Given the description of an element on the screen output the (x, y) to click on. 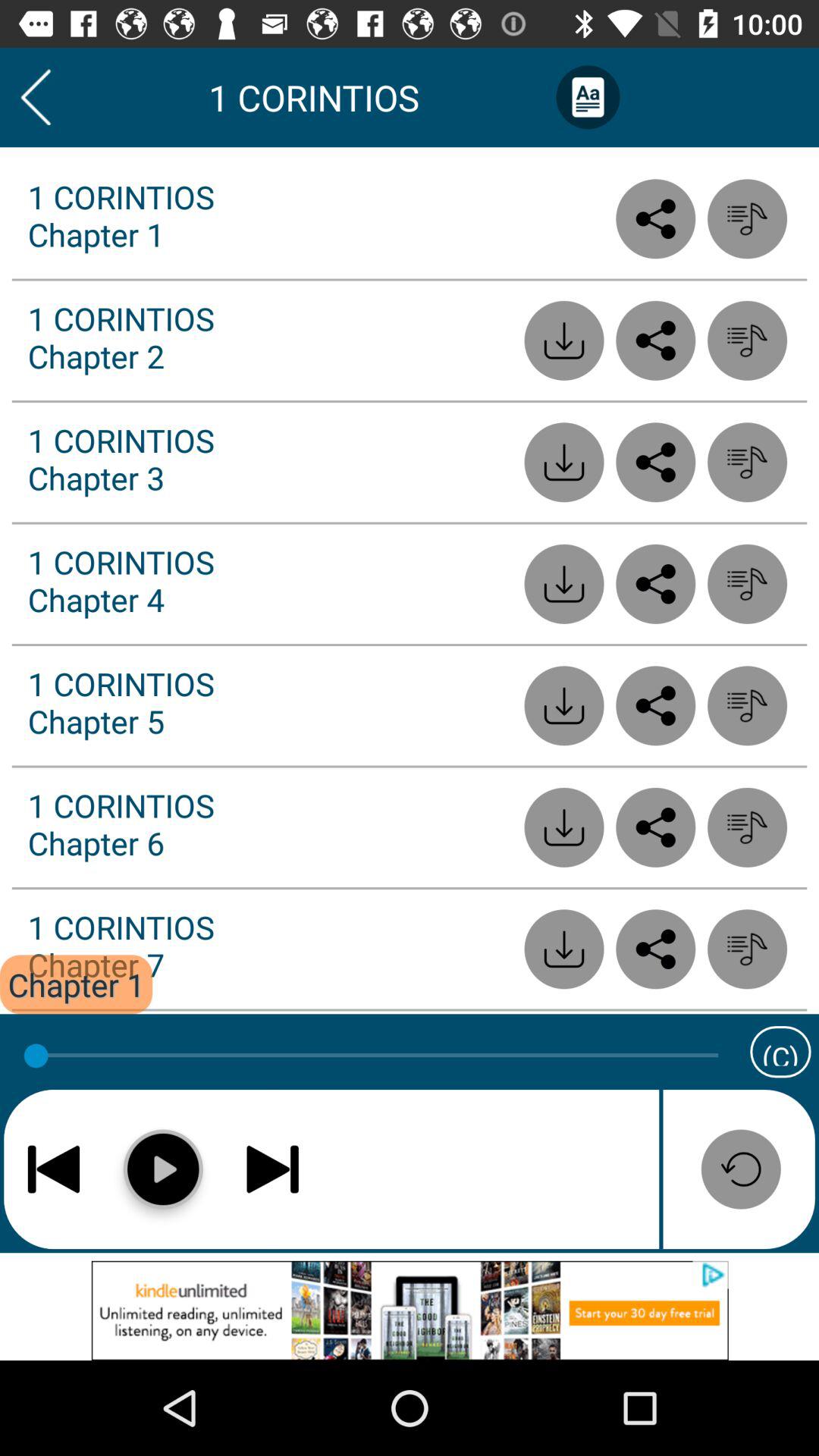
share the song option (655, 827)
